Given the description of an element on the screen output the (x, y) to click on. 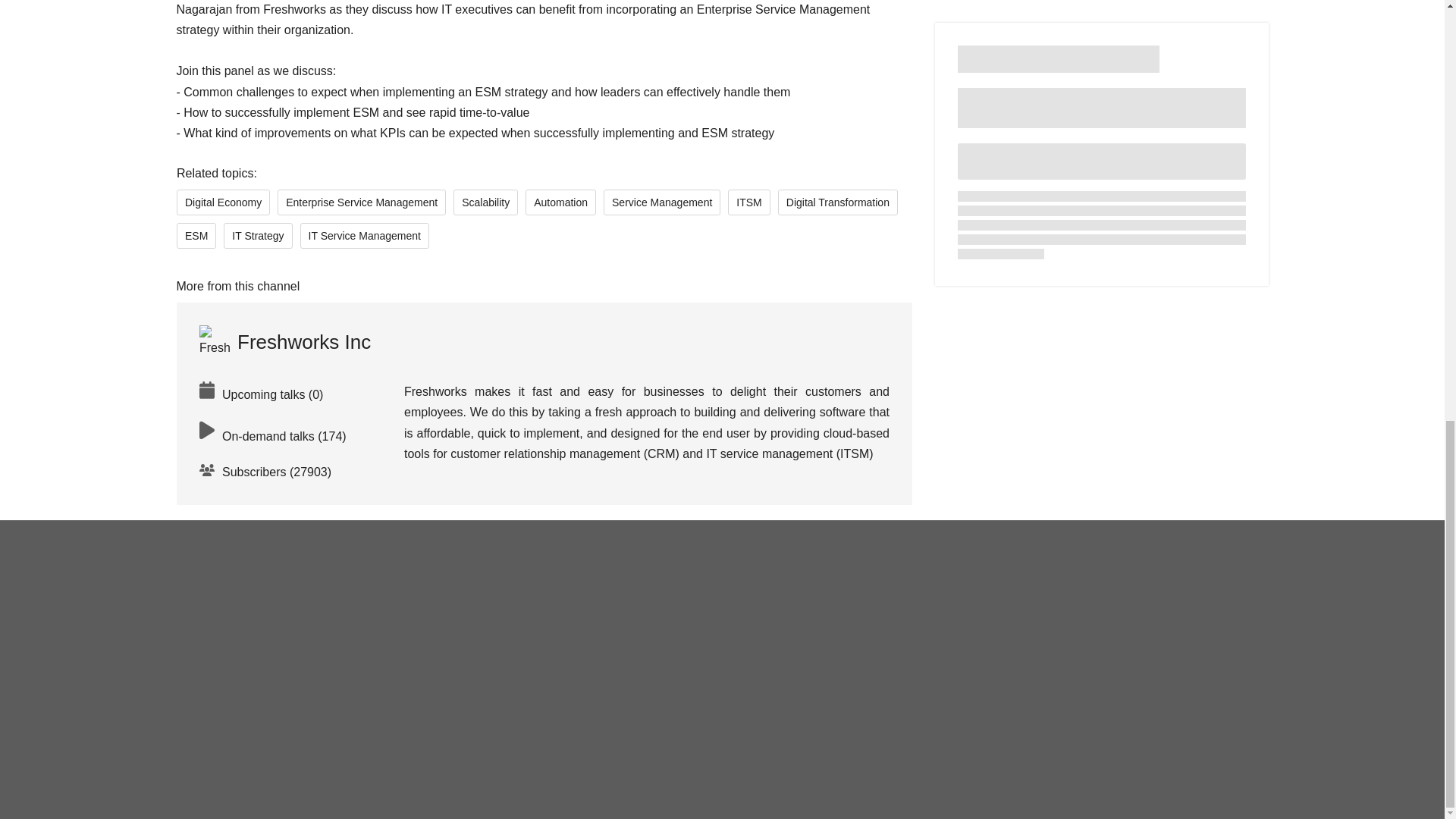
Digital Economy (222, 202)
Visit Freshworks Inc 's channel (283, 341)
IT Strategy (258, 235)
Digital Transformation (836, 202)
Automation (560, 202)
ITSM (749, 202)
Freshworks Inc (283, 341)
Scalability (485, 202)
Service Management (662, 202)
IT Service Management (363, 235)
Enterprise Service Management (361, 202)
ESM (195, 235)
